Given the description of an element on the screen output the (x, y) to click on. 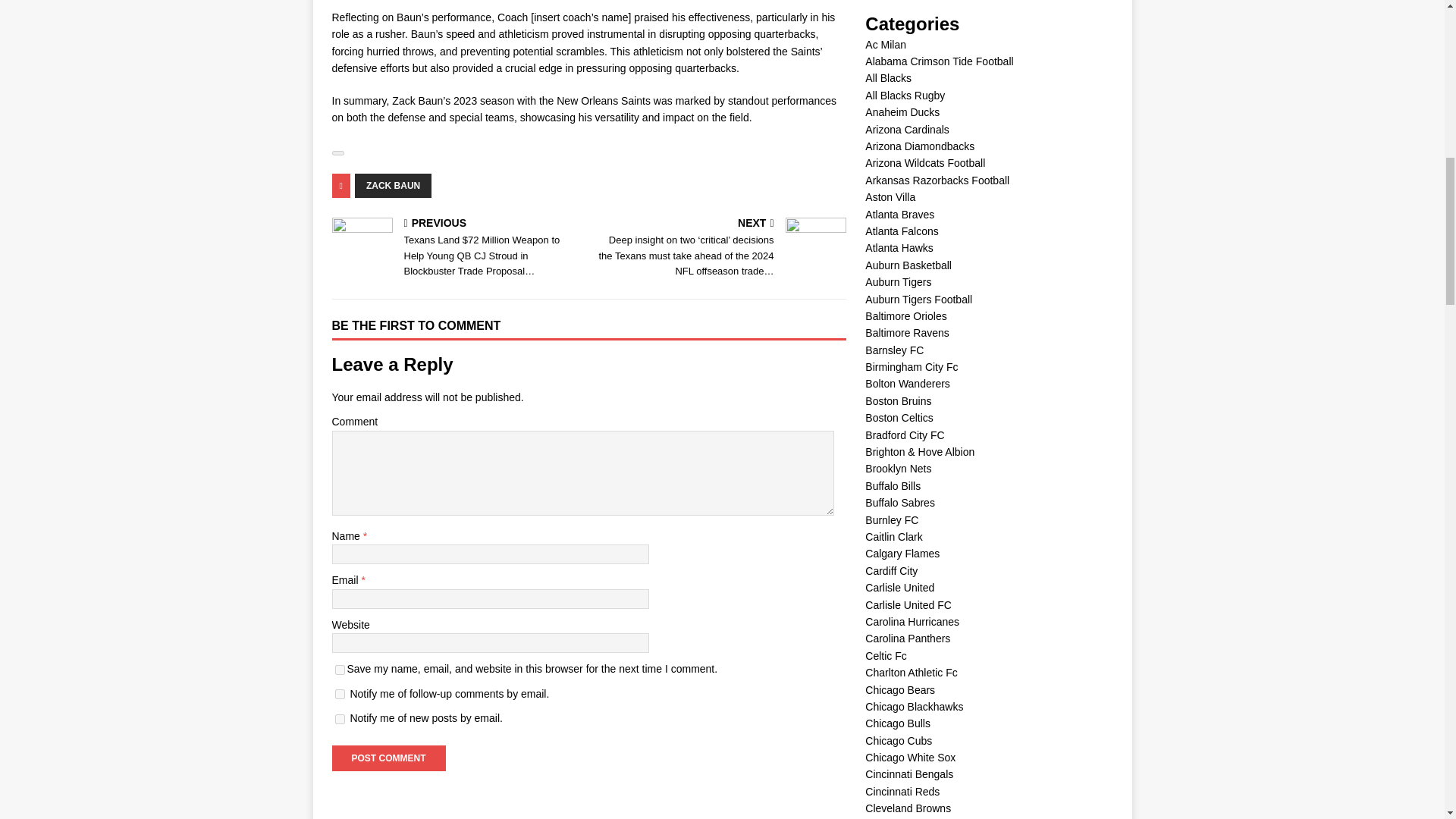
ZACK BAUN (392, 185)
subscribe (339, 718)
Post Comment (388, 758)
yes (339, 669)
subscribe (339, 694)
Post Comment (388, 758)
